Given the description of an element on the screen output the (x, y) to click on. 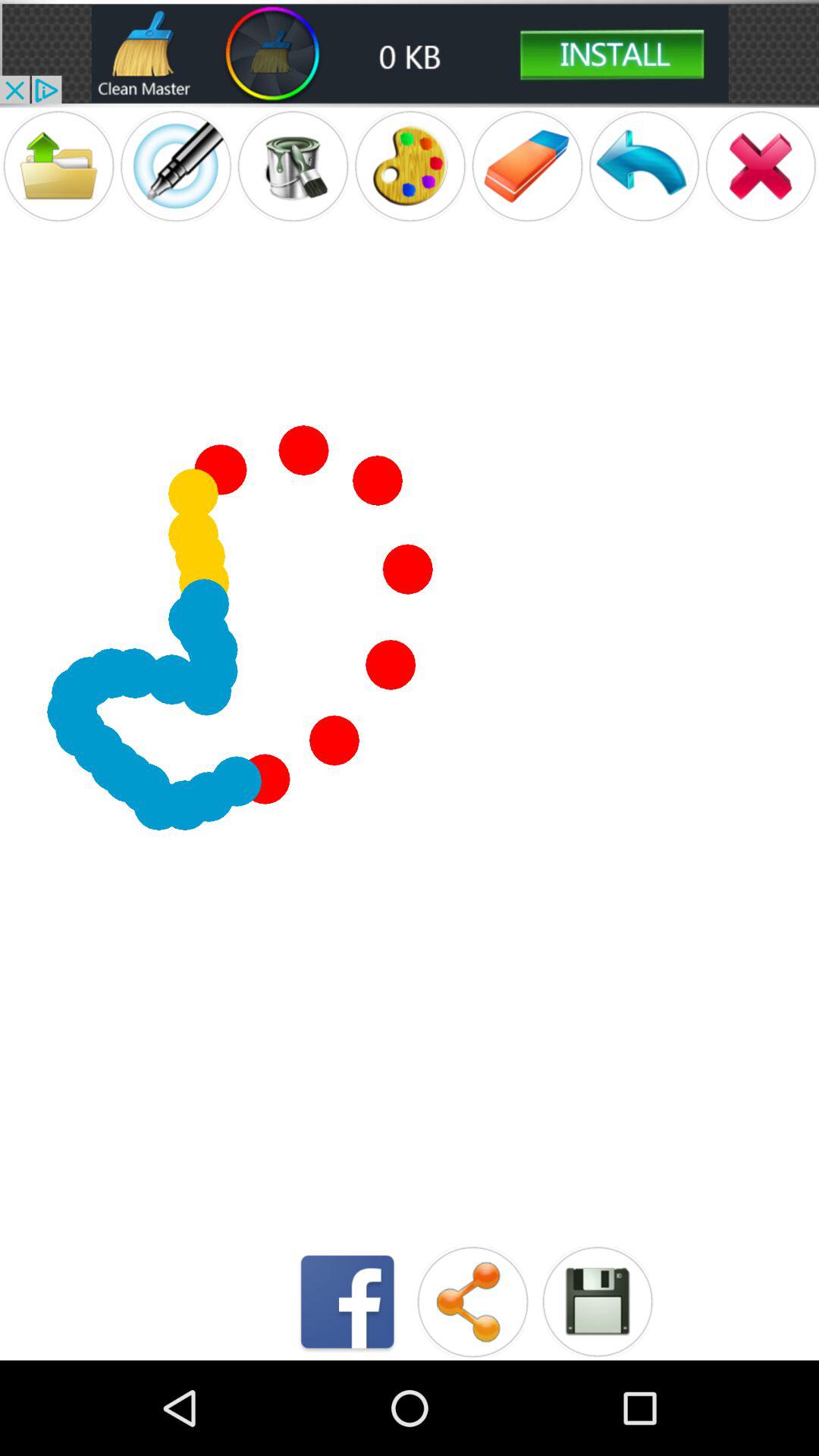
choose color (409, 165)
